Given the description of an element on the screen output the (x, y) to click on. 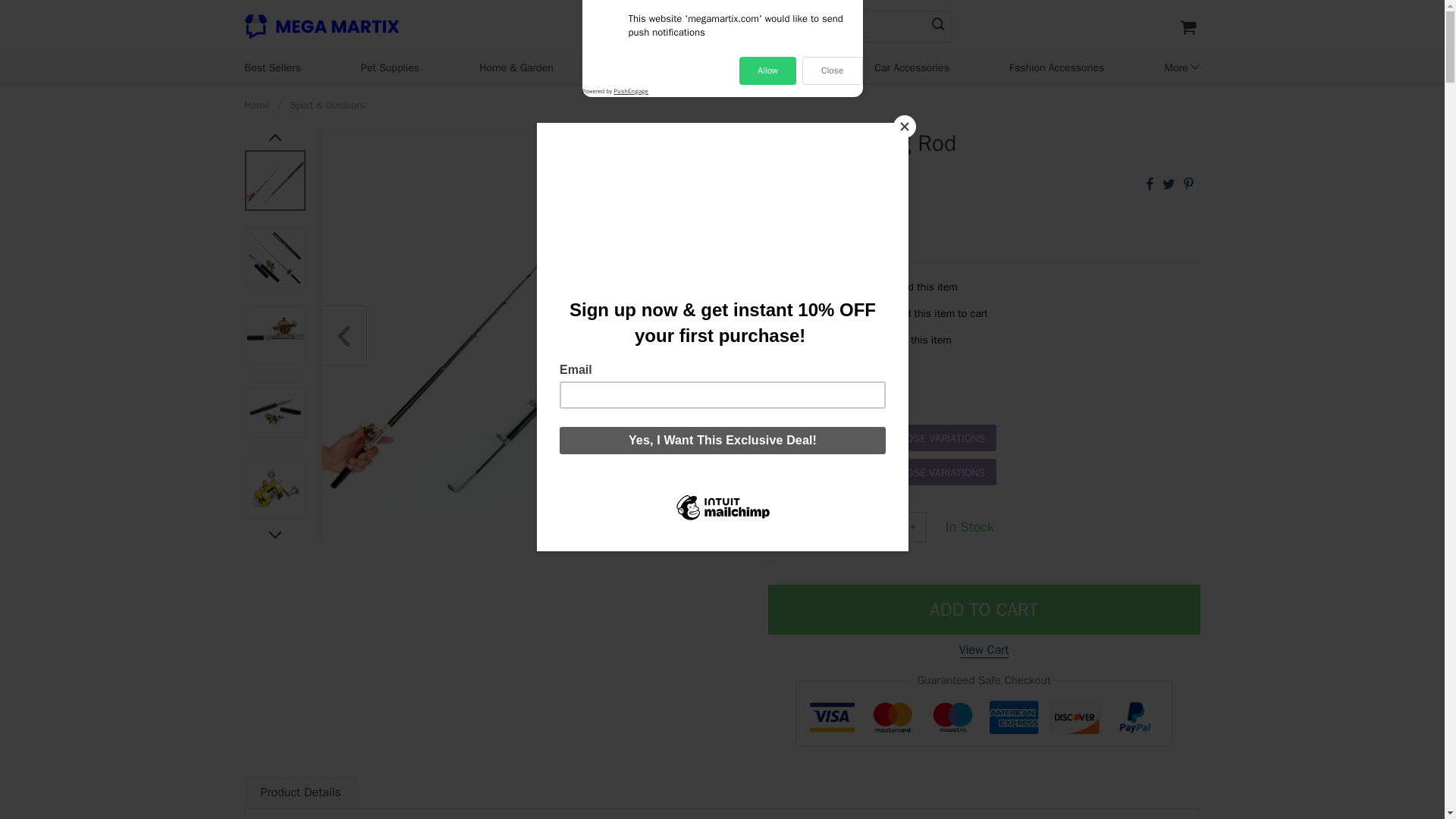
4343-e9f4b3.jpeg (274, 180)
4343-c2d0eb.jpeg (274, 335)
Fashion Accessories (1056, 67)
Best Sellers (271, 67)
Pet Supplies (390, 67)
Car Accessories (912, 67)
4343-ab2ac8.jpg (274, 412)
4343-e6f0a4.jpg (274, 489)
1 (873, 526)
Color:Purple (983, 383)
Home (256, 105)
4343-104b55.jpg (274, 257)
